Given the description of an element on the screen output the (x, y) to click on. 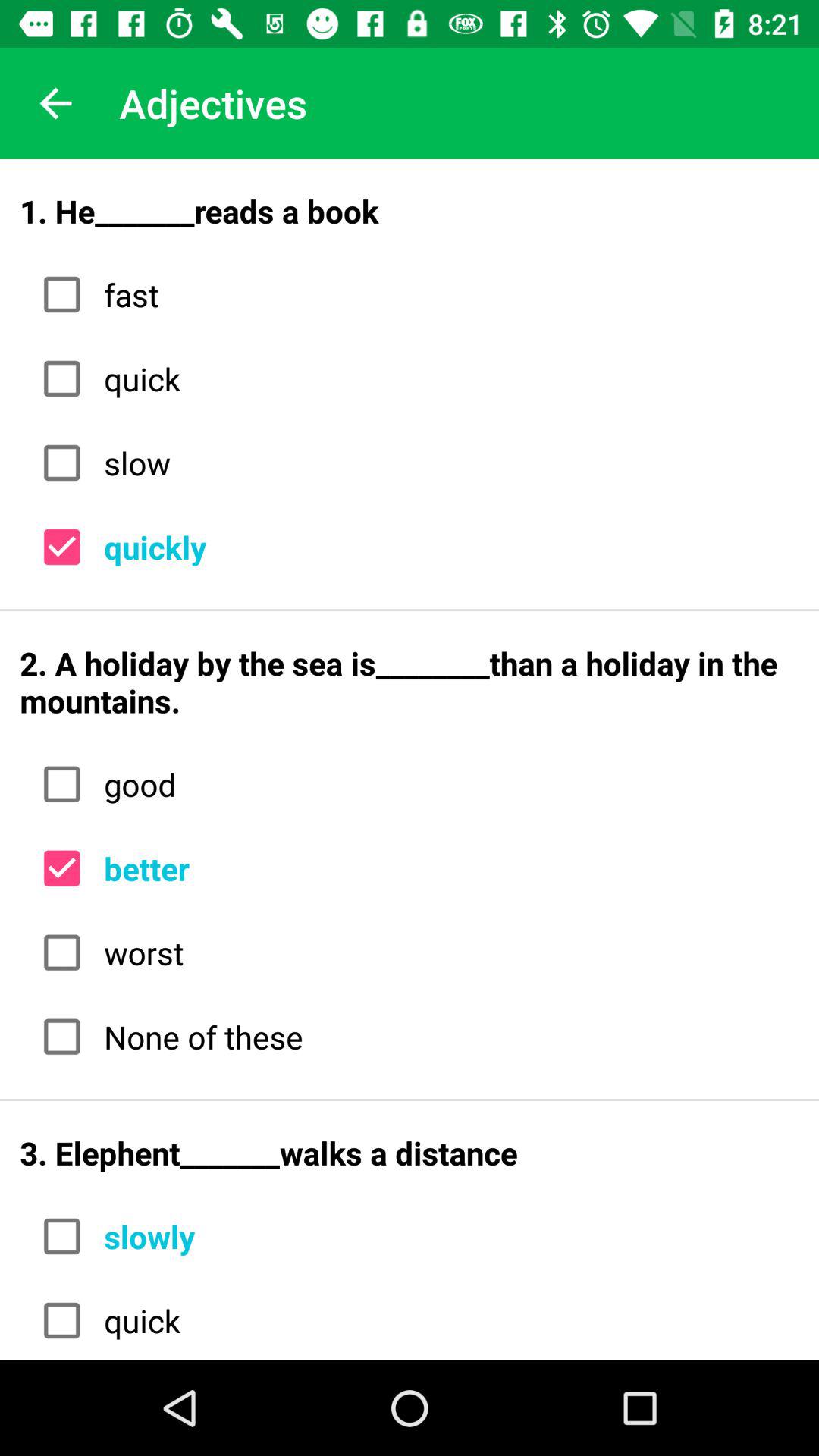
open the app next to adjectives item (55, 103)
